Given the description of an element on the screen output the (x, y) to click on. 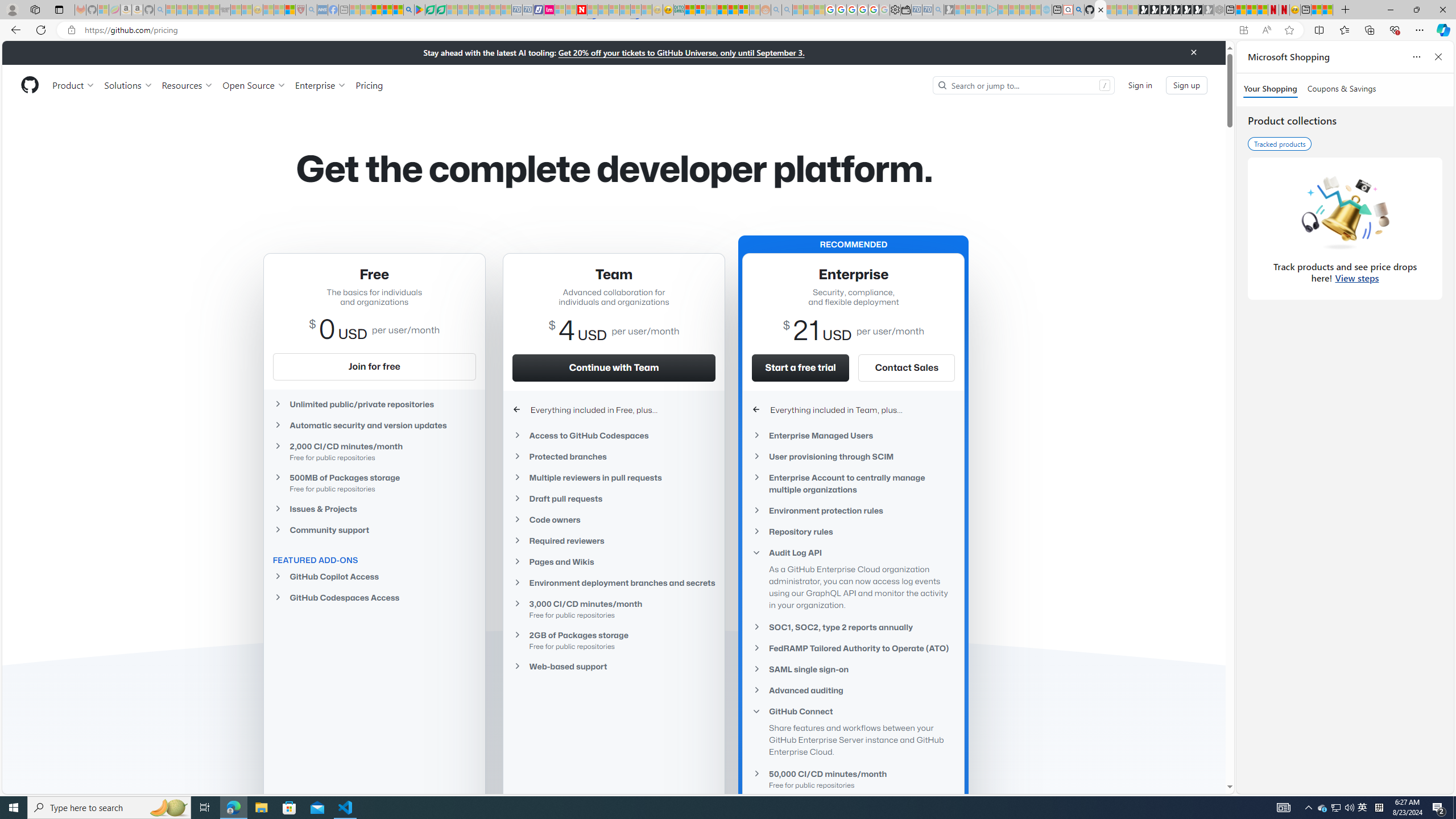
SAML single sign-on (853, 669)
3,000 CI/CD minutes/monthFree for public repositories (614, 608)
Jobs - lastminute.com Investor Portal (548, 9)
SOC1, SOC2, type 2 reports annually (853, 627)
500MB of Packages storageFree for public repositories (374, 482)
Access to GitHub Codespaces (614, 435)
